Given the description of an element on the screen output the (x, y) to click on. 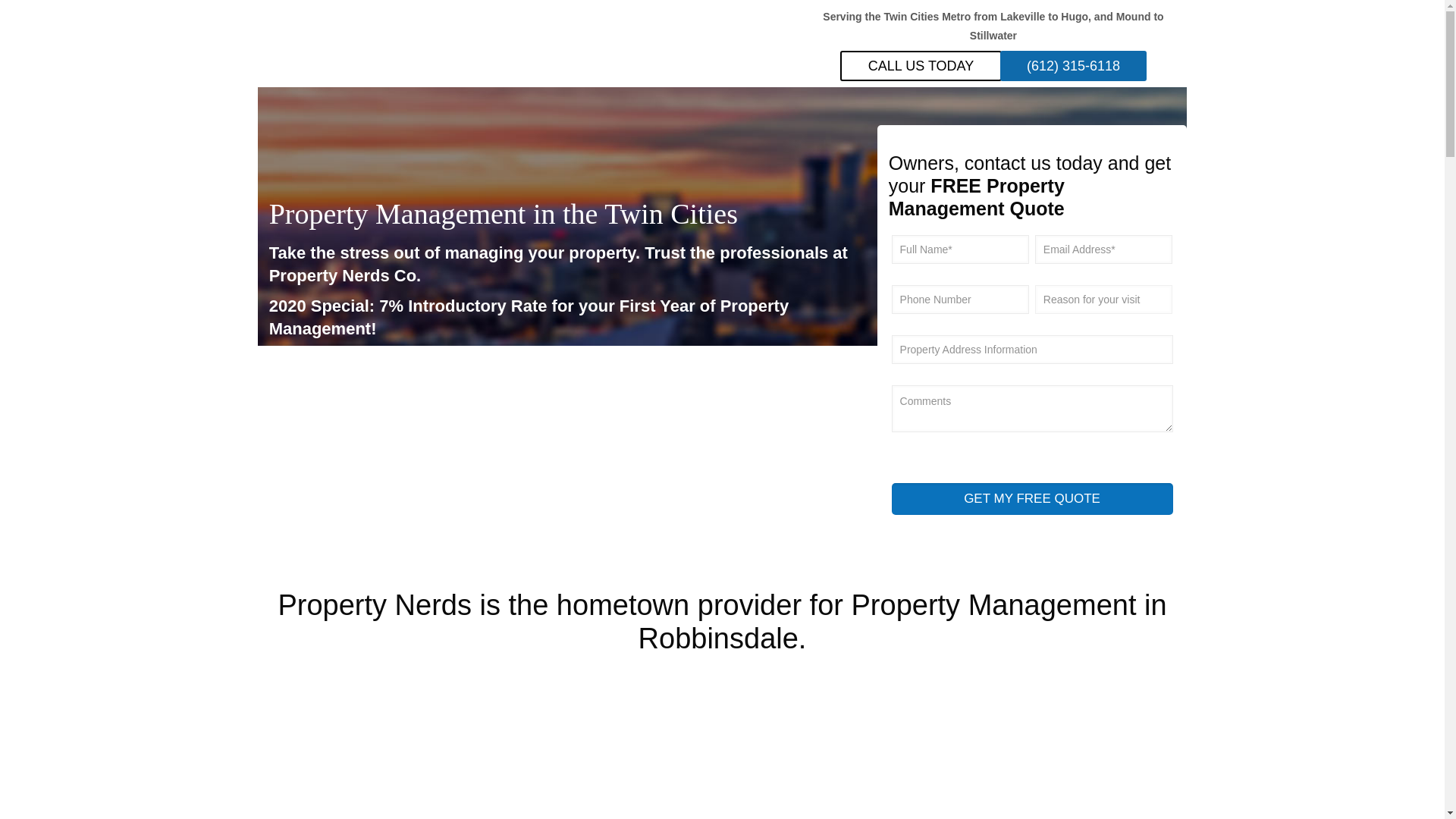
GET MY FREE QUOTE (1032, 499)
GET MY FREE QUOTE (1032, 499)
Robbinsdale-1 (478, 746)
Robbinsdale-2 (943, 746)
pn-logo (326, 42)
CALL US TODAY (920, 65)
